Given the description of an element on the screen output the (x, y) to click on. 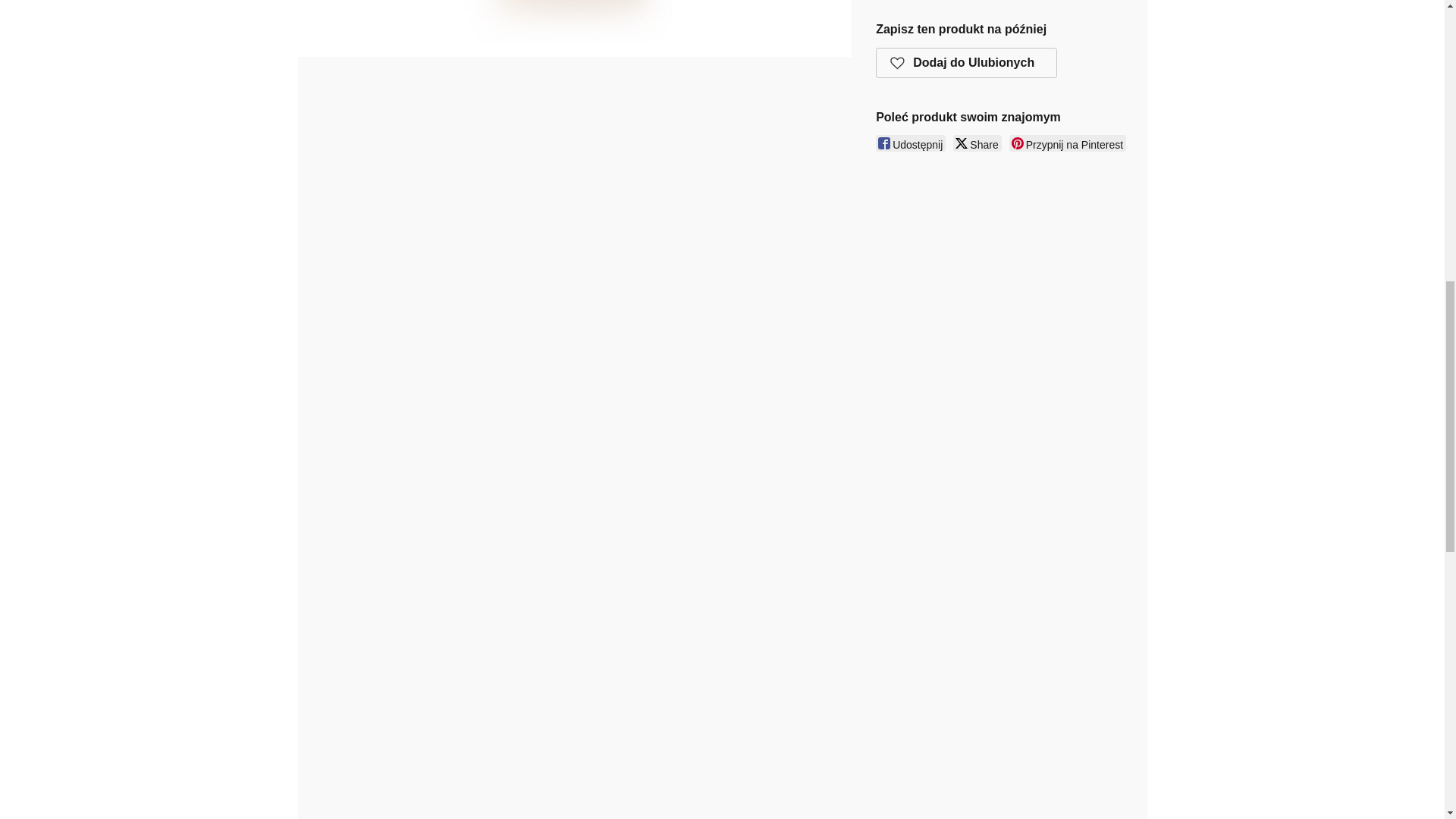
Dodaj do Ulubionych (966, 62)
Przypnij na Pinterest (1067, 143)
Share (977, 143)
